Given the description of an element on the screen output the (x, y) to click on. 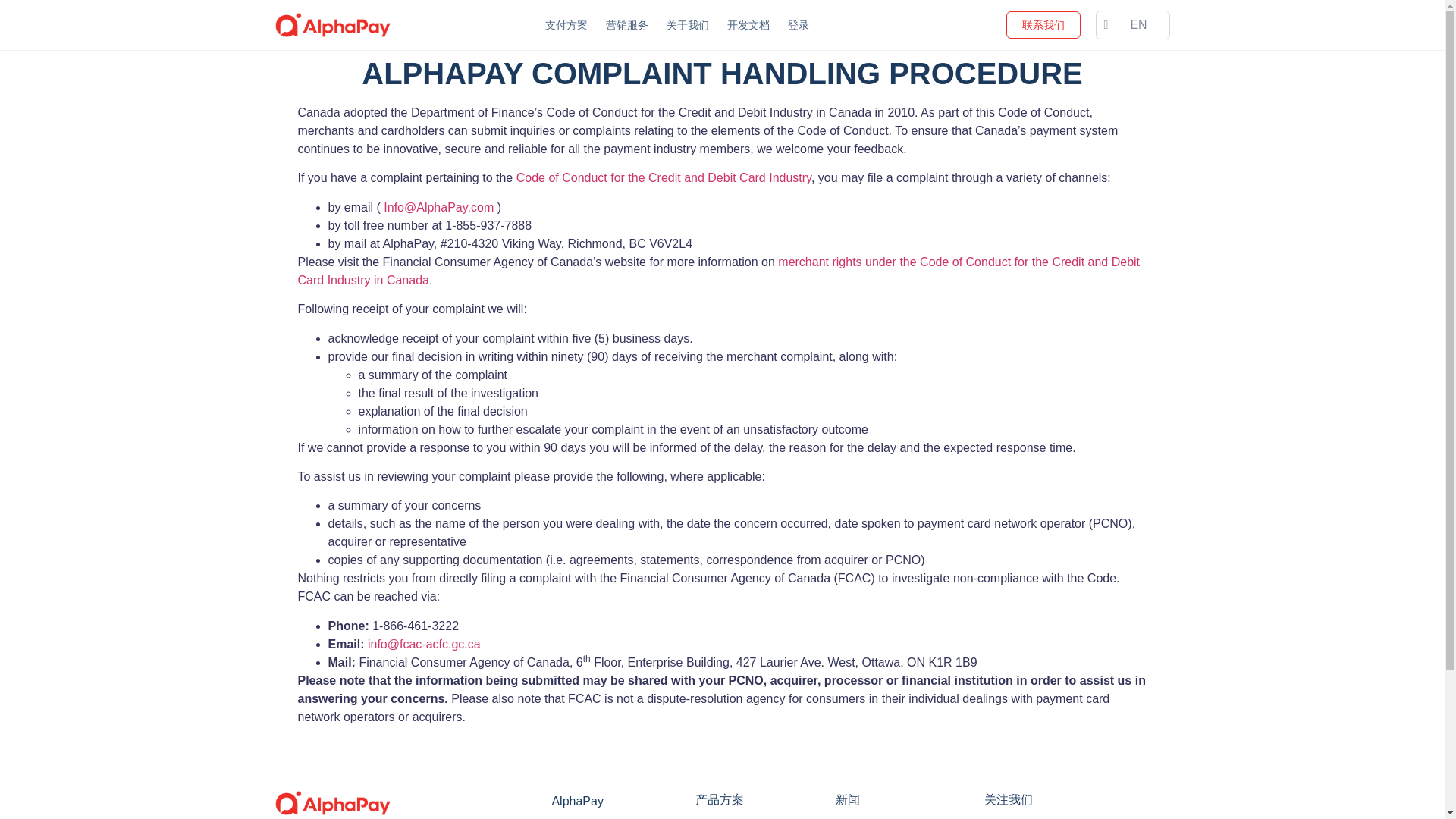
EN (1132, 24)
